Given the description of an element on the screen output the (x, y) to click on. 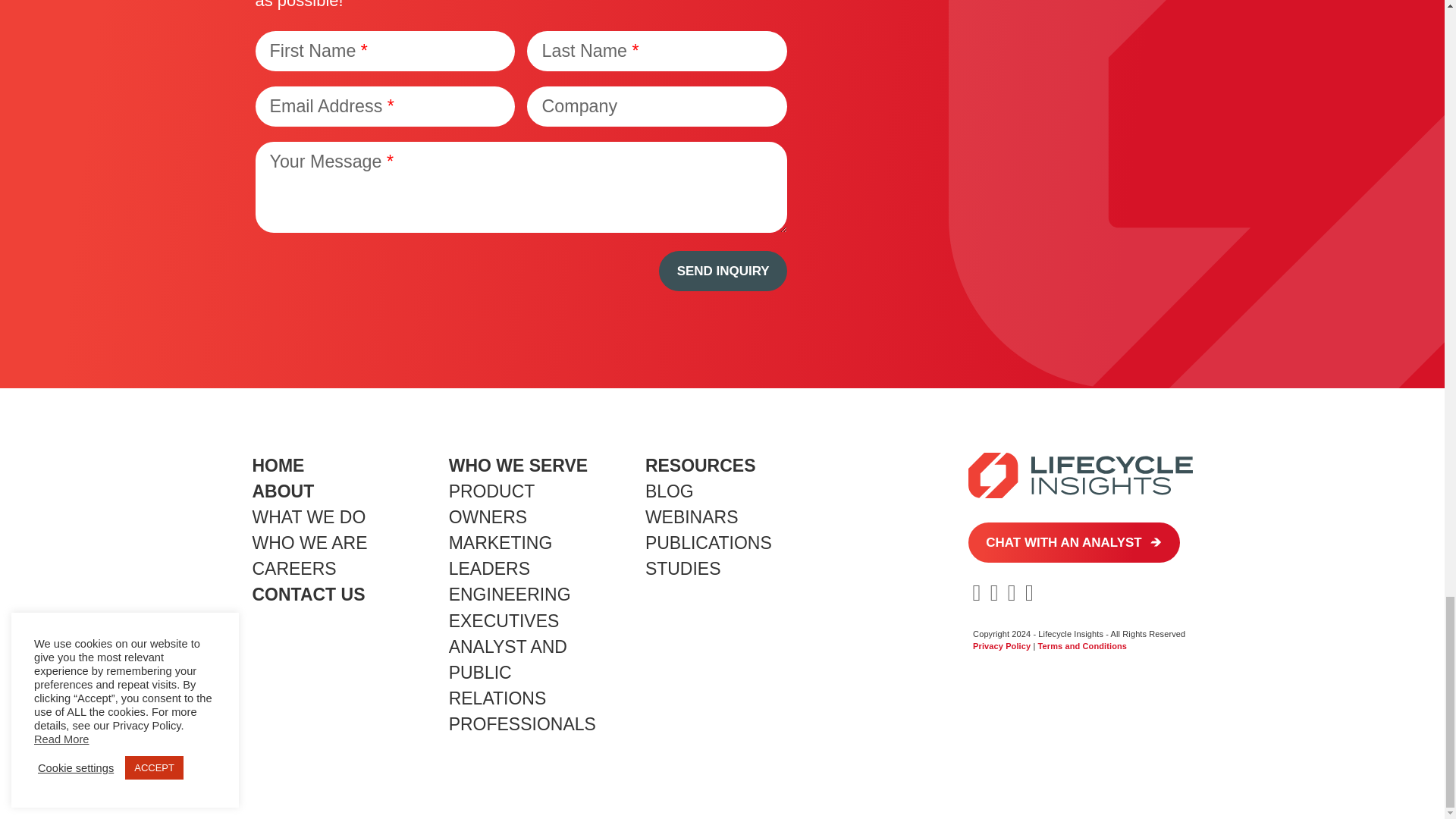
CAREERS (293, 568)
HOME (277, 465)
WHO WE ARE (308, 542)
CONTACT US (308, 594)
ABOUT (282, 491)
PRODUCT OWNERS (491, 504)
WHO WE SERVE (518, 465)
MARKETING LEADERS (500, 555)
WHAT WE DO (308, 516)
SEND INQUIRY (723, 270)
